Given the description of an element on the screen output the (x, y) to click on. 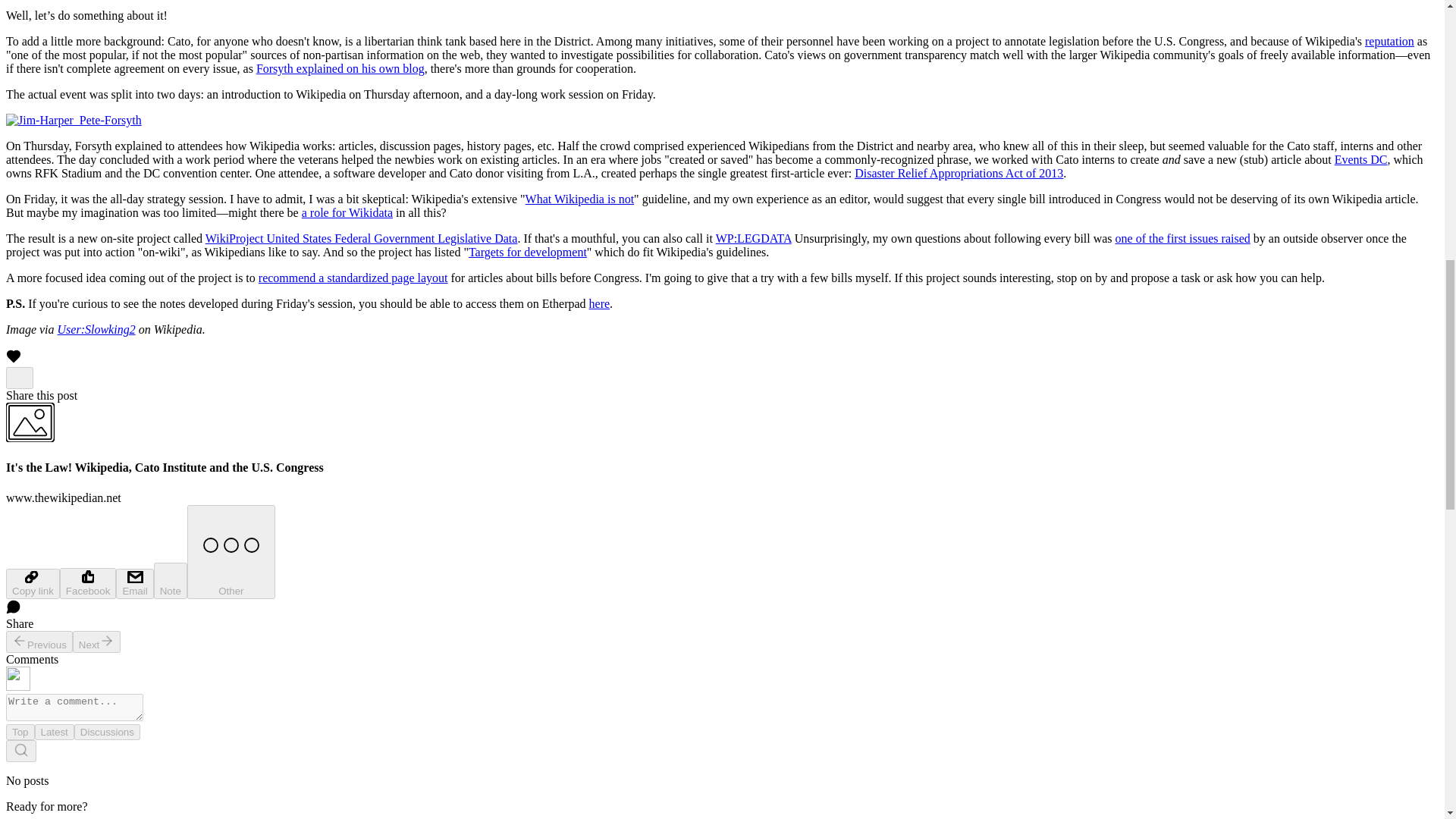
WP:LEGDATA (754, 237)
recommend a standardized page layout (353, 277)
Forsyth explained on his own blog (340, 68)
Events DC (1361, 159)
one of the first issues raised (1182, 237)
Disaster Relief Appropriations Act of 2013 (958, 173)
a role for Wikidata (347, 212)
What Wikipedia is not (579, 198)
reputation (1389, 41)
